Given the description of an element on the screen output the (x, y) to click on. 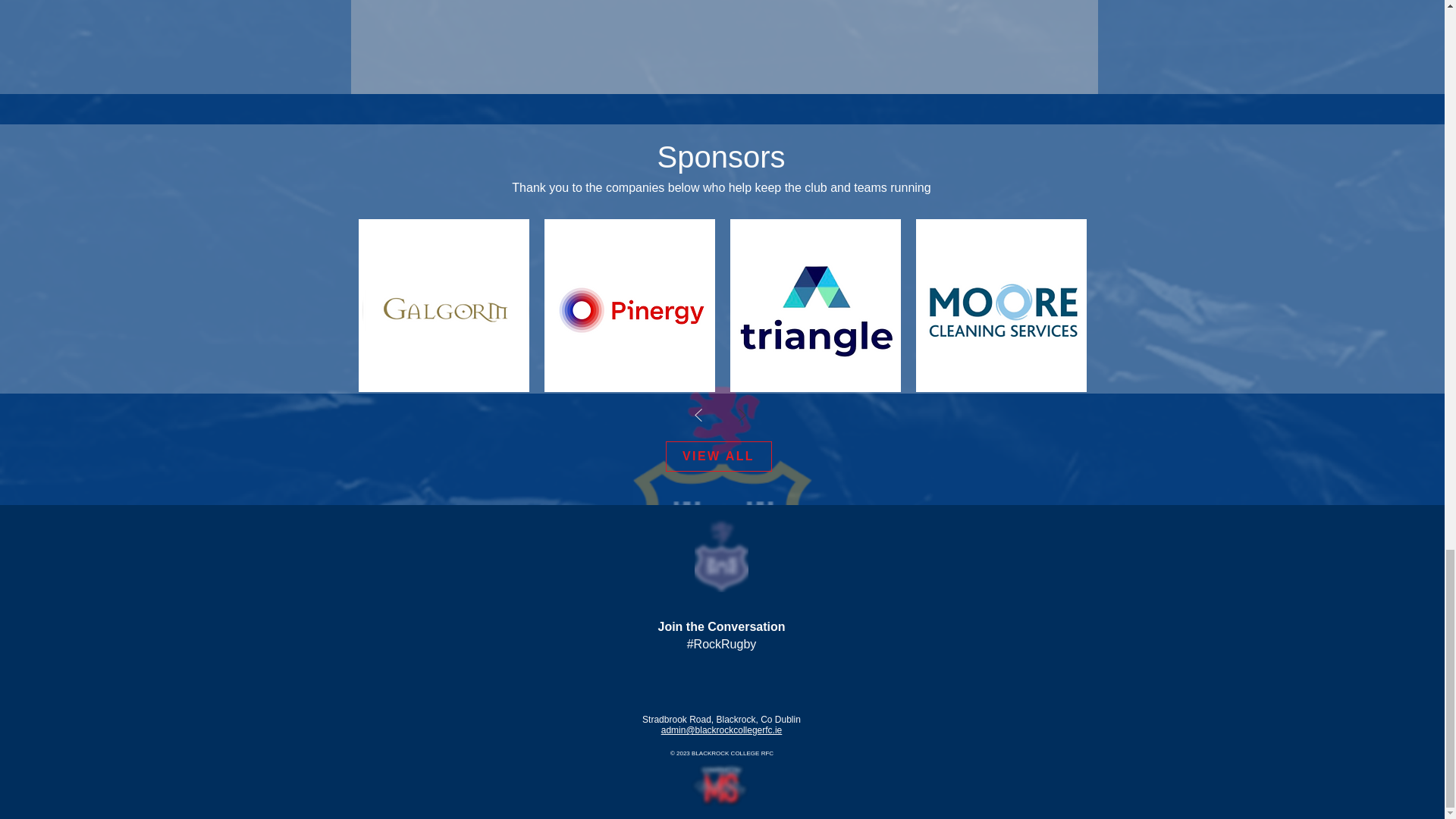
Pinergy logo sq.png (630, 310)
Moore Services logo sq.png (1002, 310)
Galgorm logo sq.png (445, 310)
